Given the description of an element on the screen output the (x, y) to click on. 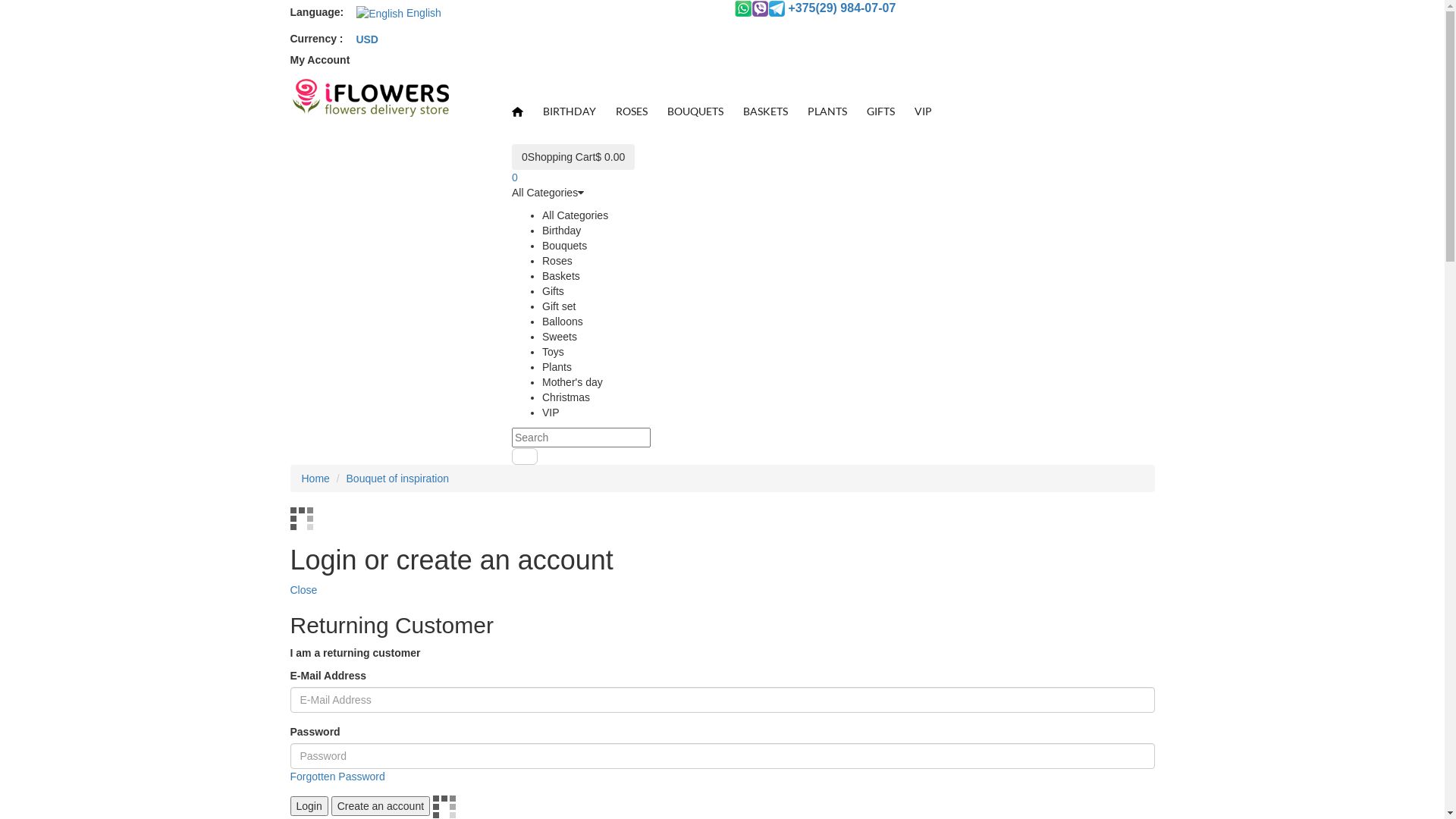
GIFTS Element type: text (880, 111)
VIP Element type: text (922, 111)
0 Element type: text (514, 177)
Create an account Element type: text (380, 805)
Forgotten Password Element type: text (336, 776)
BOUQUETS Element type: text (695, 111)
Bouquet of inspiration Element type: text (397, 478)
English Element type: text (398, 13)
Home Element type: text (315, 478)
0Shopping Cart$ 0.00 Element type: text (572, 156)
Flower delivery Minsk and Belarus - iFlowers.by Element type: hover (368, 97)
Close Element type: text (302, 589)
BASKETS Element type: text (765, 111)
USD Element type: text (366, 39)
PLANTS Element type: text (826, 111)
English Element type: hover (379, 13)
BIRTHDAY Element type: text (569, 111)
ROSES Element type: text (631, 111)
 +375(29) 984-07-07 Element type: text (815, 8)
Login Element type: text (308, 805)
